Given the description of an element on the screen output the (x, y) to click on. 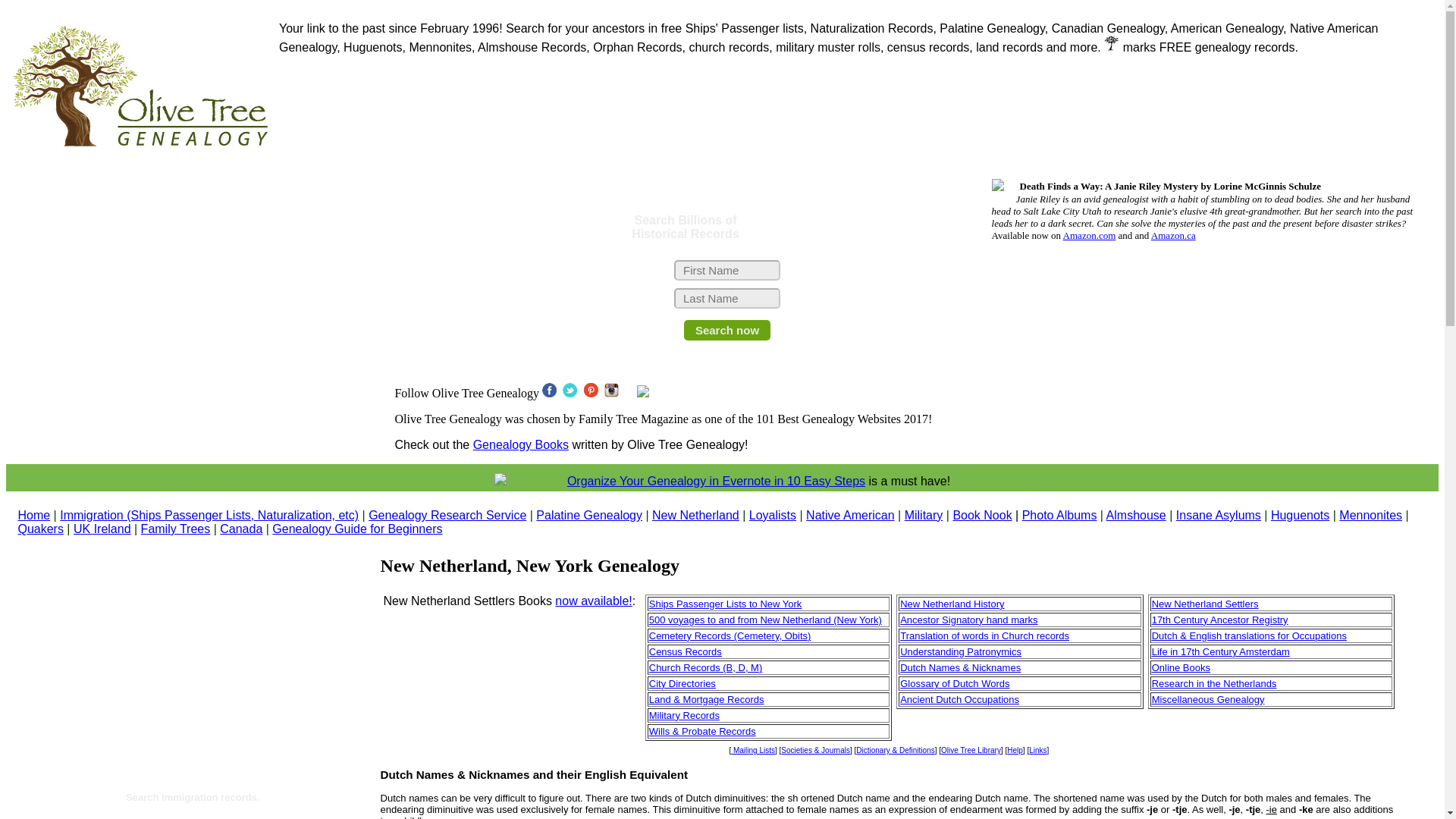
Find your ancestors in genealogy books (981, 514)
Book Nook (981, 514)
Return to Olive Tree Genealogy homepage (33, 514)
Find your Loyalist ancestors on Olive Tree Genealogy (772, 514)
Find your ancestors in antique photo albums (1059, 514)
Mennonites (1370, 514)
Military (923, 514)
Genealogy Research Service (446, 514)
Amazon.ca (1173, 235)
